Given the description of an element on the screen output the (x, y) to click on. 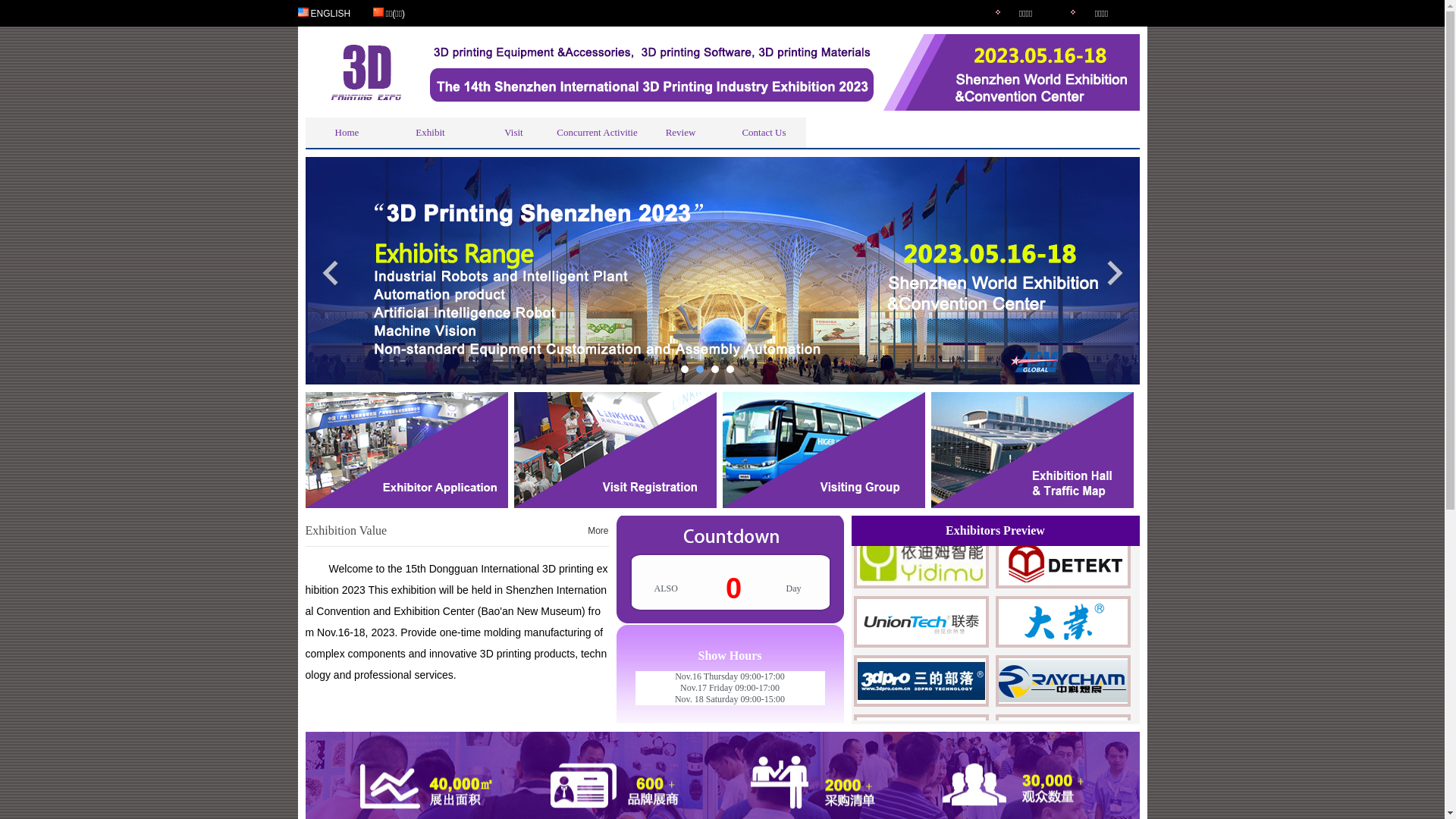
Review Element type: text (679, 132)
Exhibit Element type: text (429, 132)
ENGLISH Element type: text (330, 12)
Home Element type: text (346, 132)
More Element type: text (597, 530)
Visit Element type: text (513, 132)
detekt Element type: hover (1061, 587)
Contact Us Element type: text (763, 132)
Concurrent Activities Element type: text (596, 132)
